Given the description of an element on the screen output the (x, y) to click on. 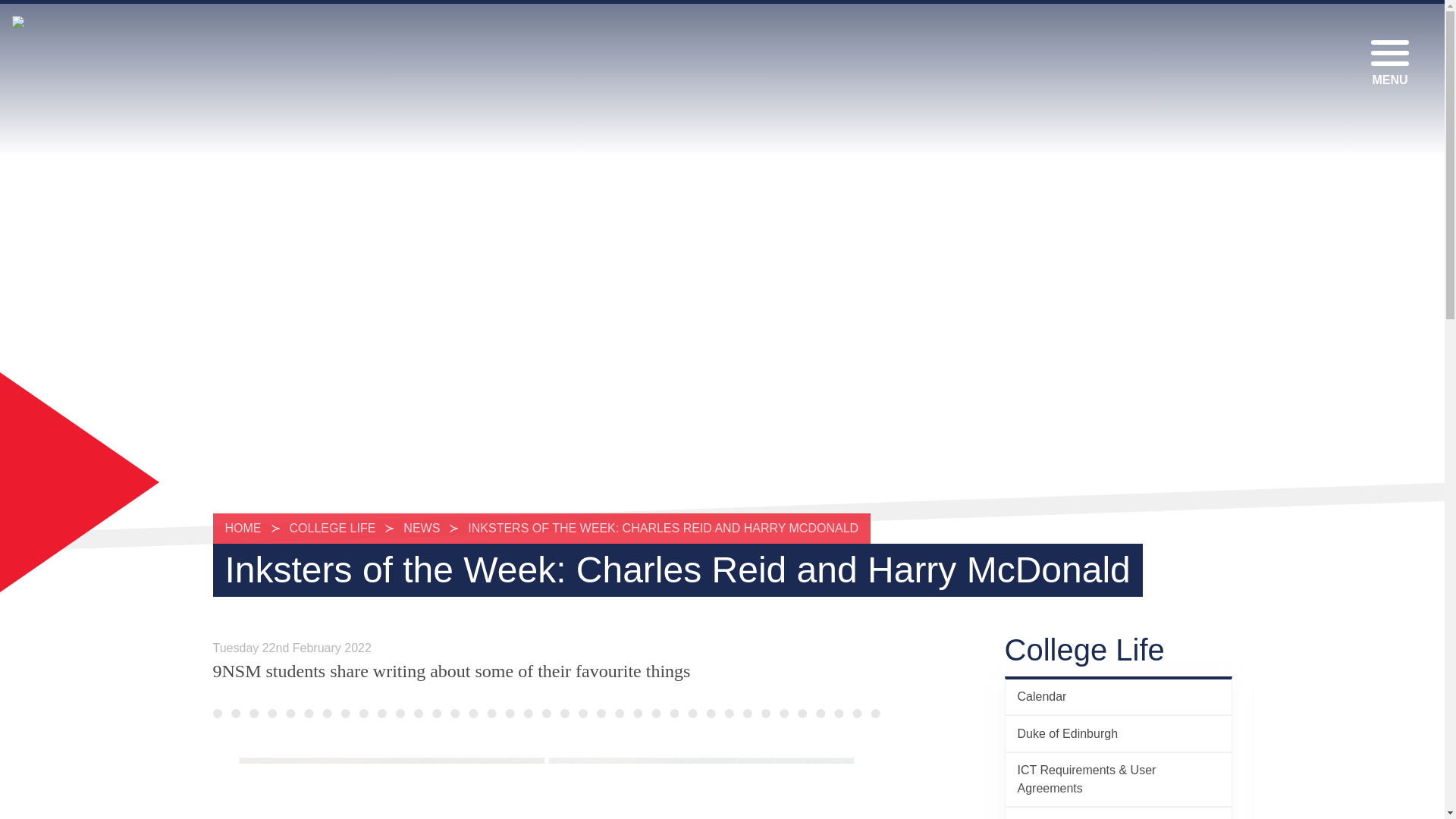
HOME (246, 528)
COLLEGE LIFE (333, 528)
Calendar (1118, 696)
News (1118, 813)
NEWS (421, 528)
INKSTERS OF THE WEEK: CHARLES REID AND HARRY MCDONALD (662, 528)
Duke of Edinburgh (1118, 733)
